Given the description of an element on the screen output the (x, y) to click on. 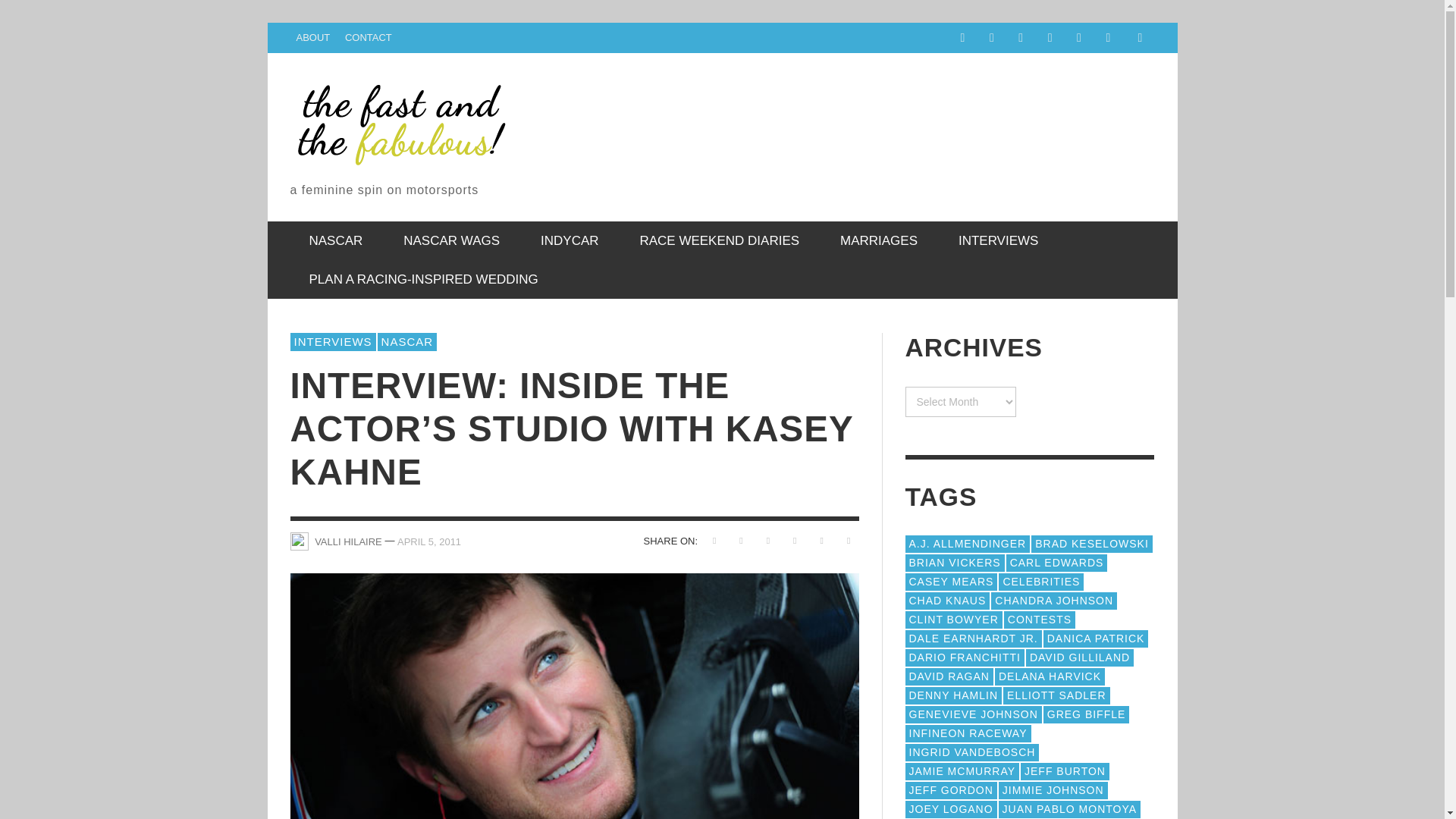
NASCAR (335, 240)
a feminine spin on motorsports (399, 137)
Instagram (991, 37)
Pinterest (1049, 37)
Twitter (1107, 37)
Facebook (961, 37)
RSS (1078, 37)
ABOUT (312, 37)
CONTACT (368, 37)
LinkedIn (1020, 37)
NASCAR WAGS (451, 240)
